Given the description of an element on the screen output the (x, y) to click on. 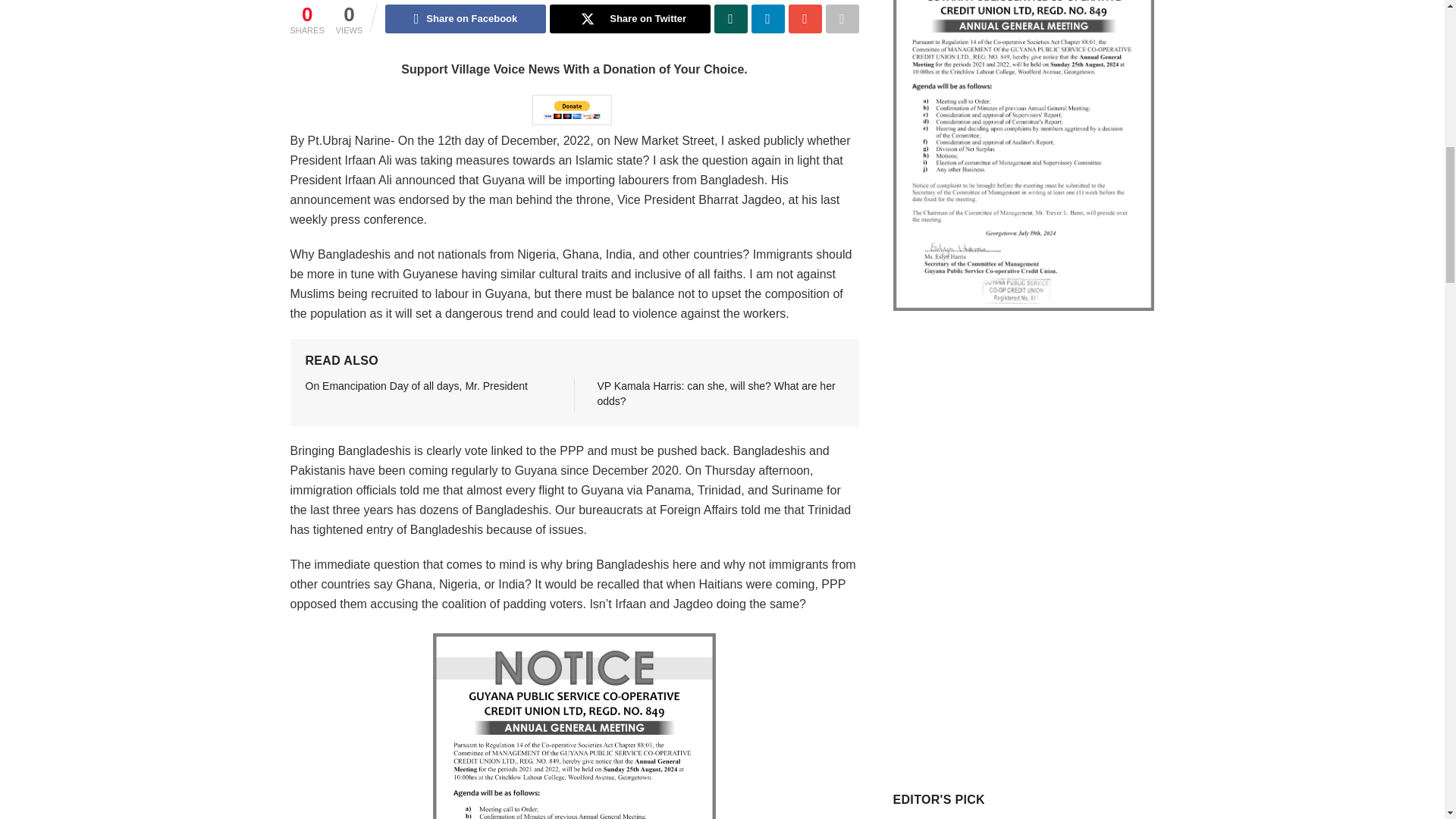
PayPal - The safer, easier way to pay online! (571, 110)
